Given the description of an element on the screen output the (x, y) to click on. 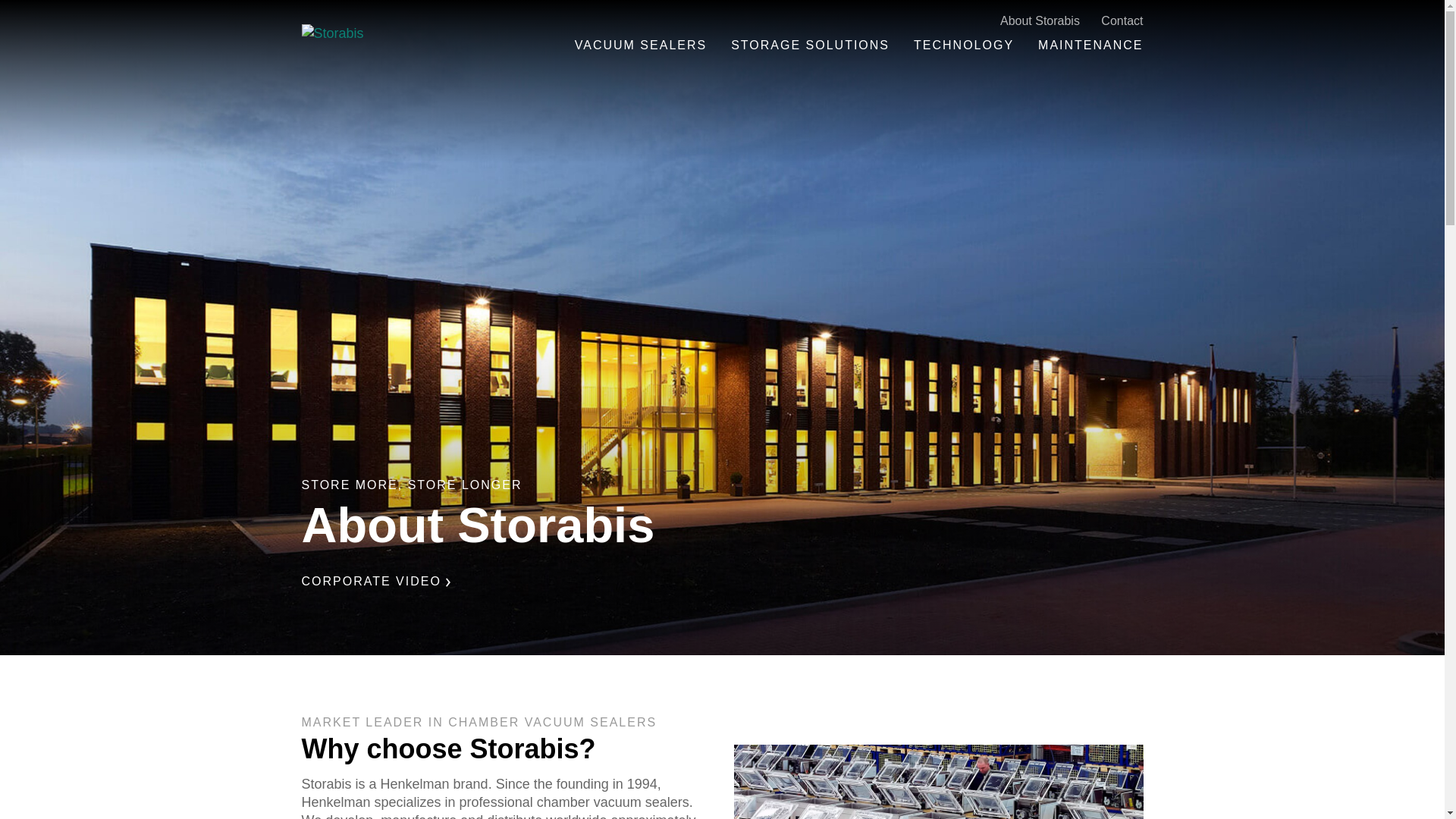
MAINTENANCE (1090, 47)
STORAGE SOLUTIONS (809, 47)
VACUUM SEALERS (640, 47)
About Storabis (1040, 23)
TECHNOLOGY (963, 47)
CORPORATE VIDEO (376, 581)
Contact (1121, 23)
